Given the description of an element on the screen output the (x, y) to click on. 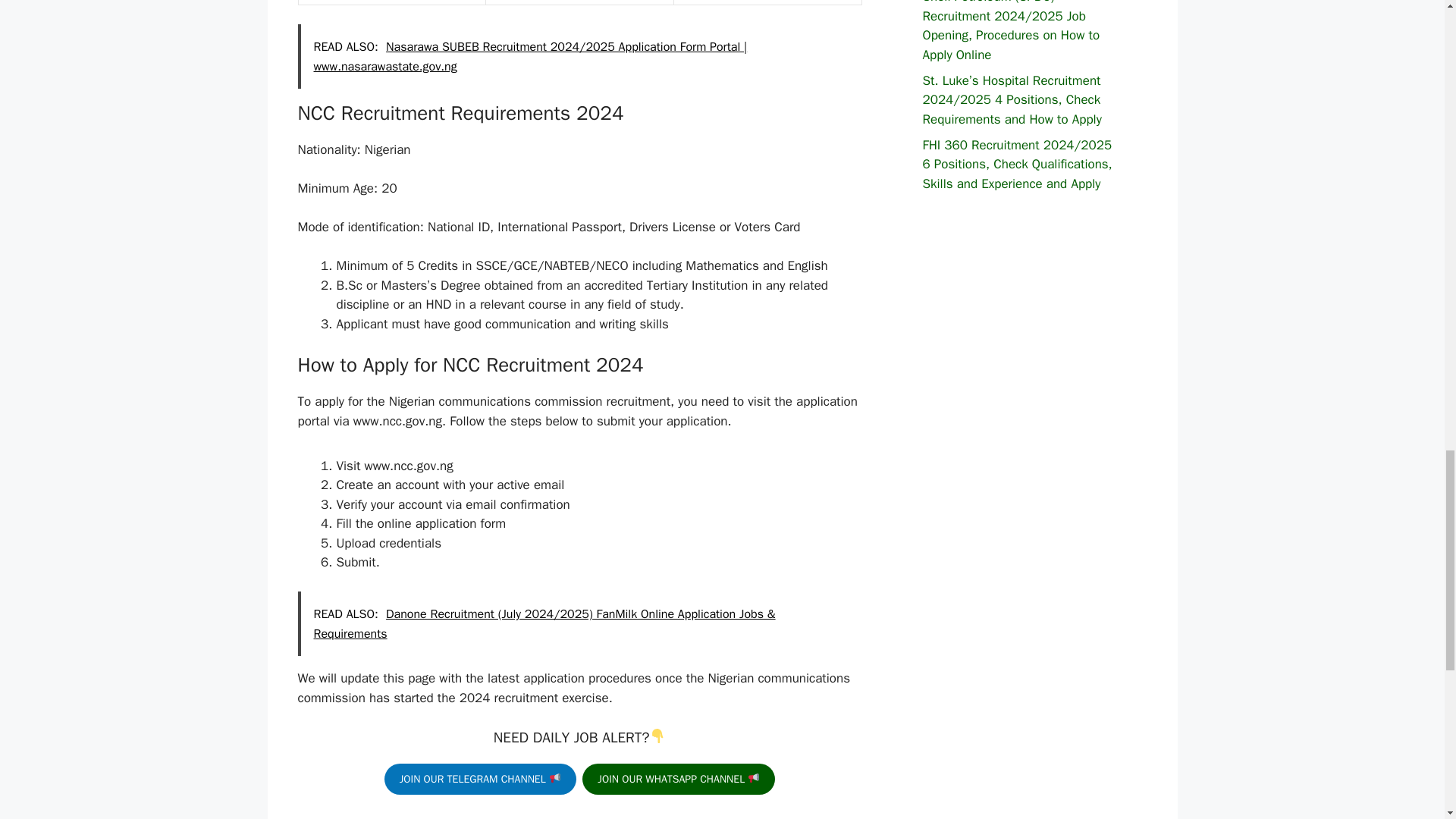
JOIN OUR TELEGRAM CHANNEL (480, 778)
JOIN OUR WHATSAPP CHANNEL (678, 778)
